Given the description of an element on the screen output the (x, y) to click on. 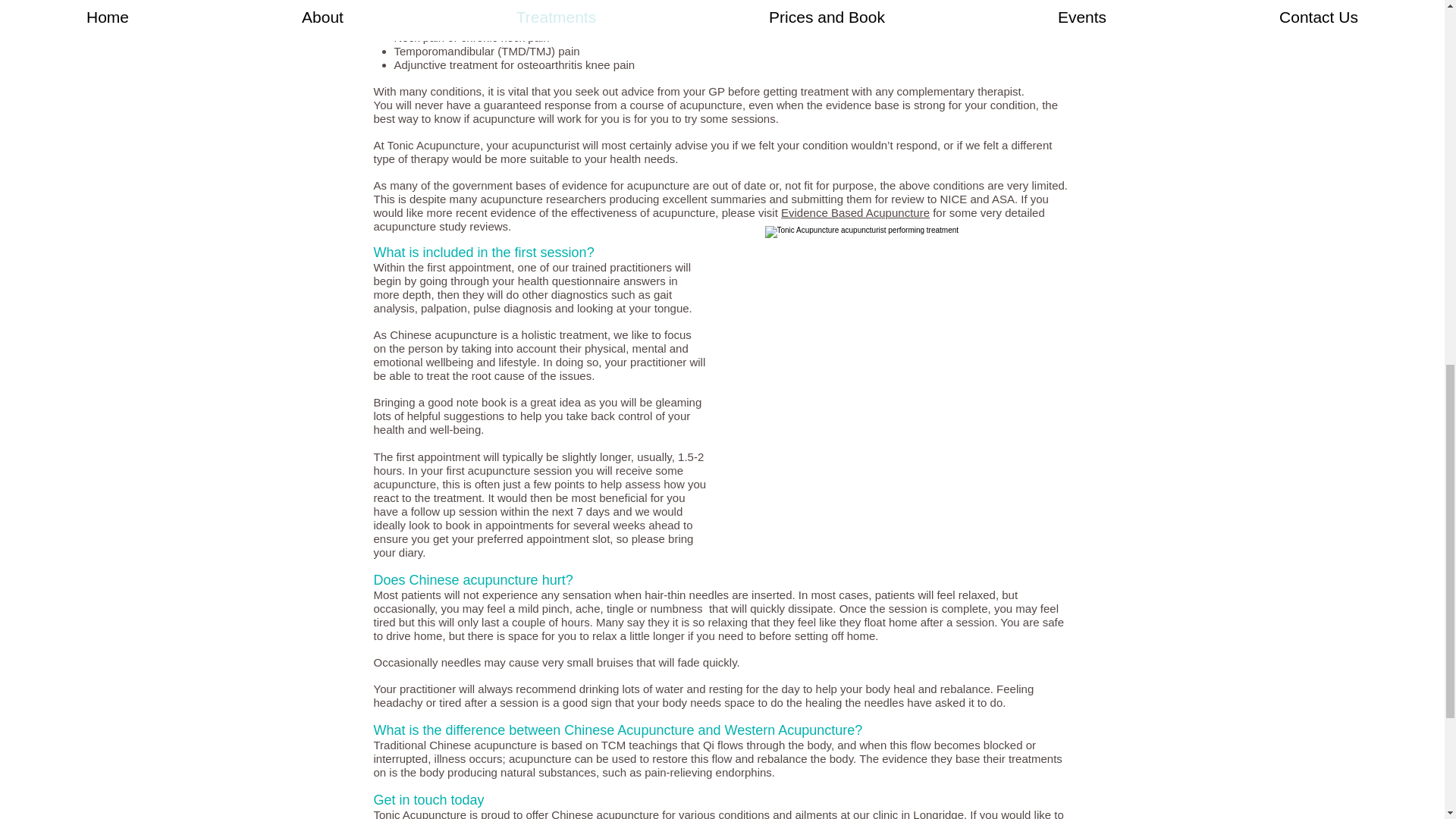
Evidence Based Acupuncture (855, 212)
